Given the description of an element on the screen output the (x, y) to click on. 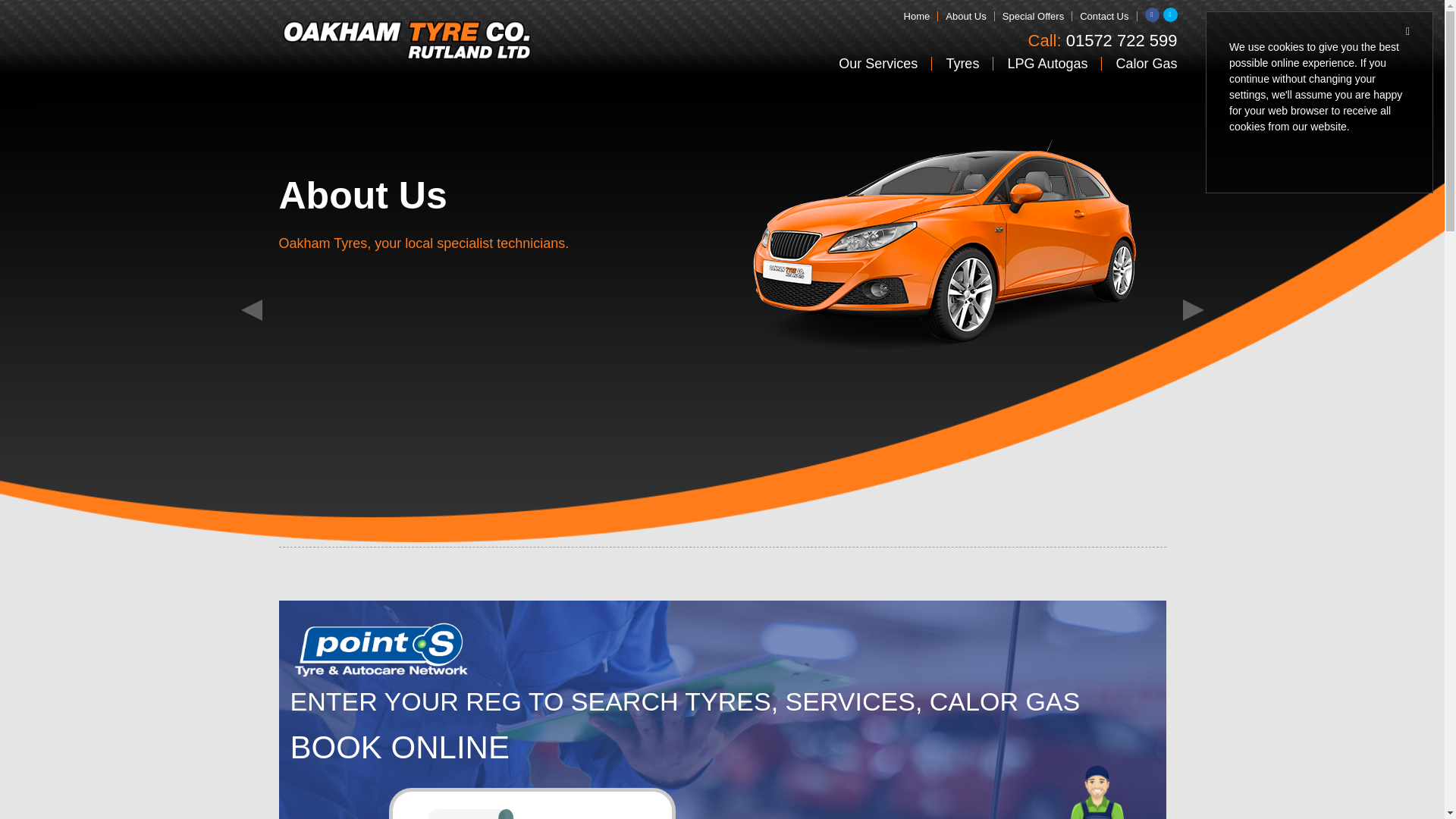
Contact Us (1104, 16)
home (917, 16)
About Us (965, 16)
01572 722 599 (1121, 40)
Calor Gas (1139, 63)
Contact Us (1104, 16)
Our Services (878, 63)
Special Offers (1032, 16)
Tyres (961, 63)
LPG Autogas (1047, 63)
Tyres (961, 63)
Our Services (878, 63)
Home (917, 16)
About Us (965, 16)
LPG Autogas (1047, 63)
